Given the description of an element on the screen output the (x, y) to click on. 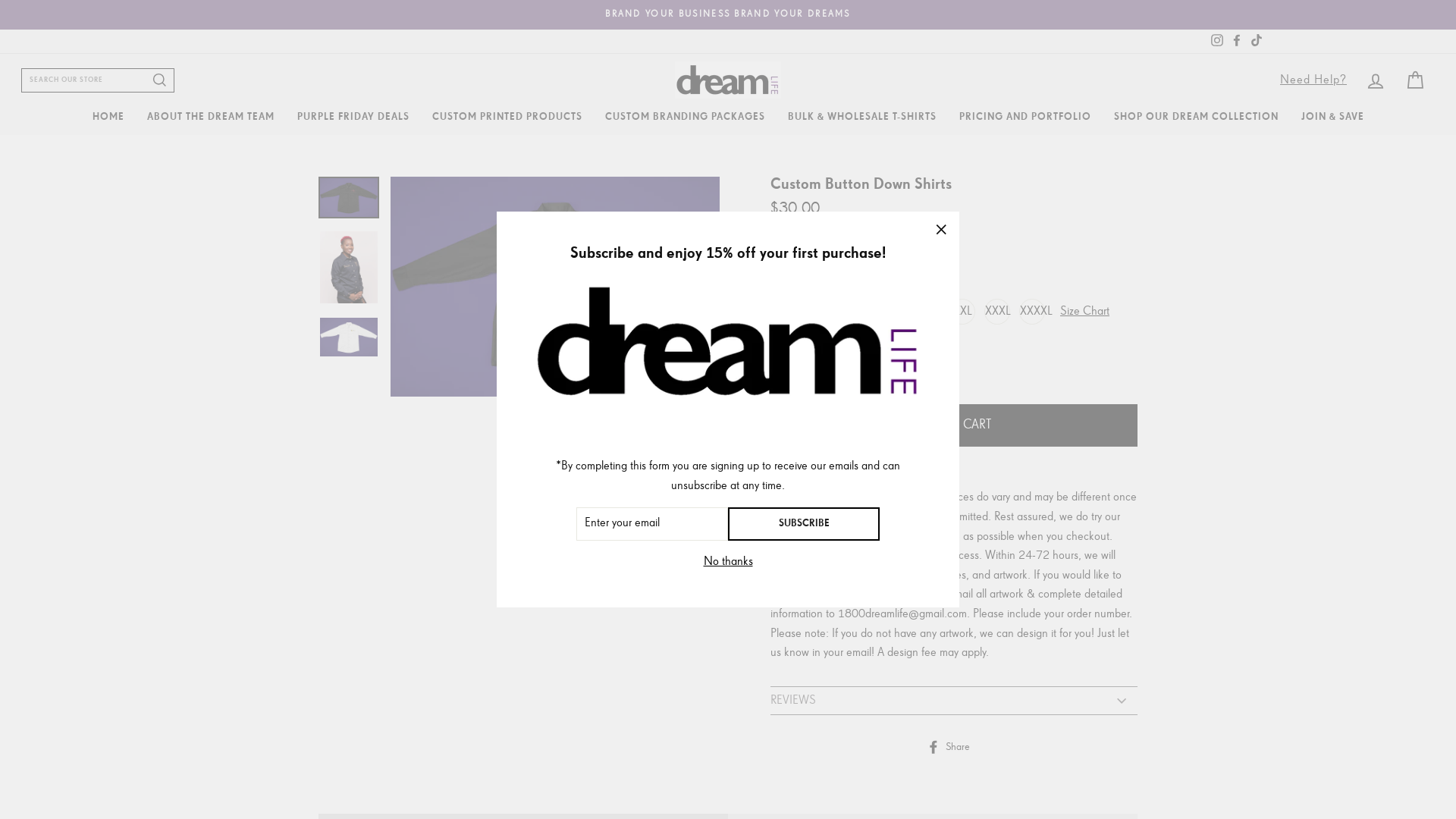
Search Element type: text (161, 80)
CART Element type: text (1414, 79)
Need Help? Element type: text (1312, 79)
JOIN & SAVE Element type: text (1331, 116)
CUSTOM PRINTED PRODUCTS Element type: text (506, 116)
SUBSCRIBE Element type: text (803, 523)
No thanks Element type: text (728, 562)
"Close (esc)" Element type: text (940, 229)
LOG IN Element type: text (1375, 79)
Facebook Element type: text (1236, 40)
PURPLE FRIDAY DEALS Element type: text (352, 116)
CUSTOM BRANDING PACKAGES Element type: text (684, 116)
SHOP OUR DREAM COLLECTION Element type: text (1195, 116)
REVIEWS Element type: text (953, 700)
HOME Element type: text (107, 116)
Skip to content Element type: text (0, 0)
ADD TO CART Element type: text (953, 425)
ABOUT THE DREAM TEAM Element type: text (209, 116)
TikTok Element type: text (1256, 40)
Share
Share on Facebook Element type: text (953, 747)
PRICING AND PORTFOLIO Element type: text (1024, 116)
BULK & WHOLESALE T-SHIRTS Element type: text (861, 116)
Instagram Element type: text (1216, 40)
+ Element type: text (902, 364)
